Given the description of an element on the screen output the (x, y) to click on. 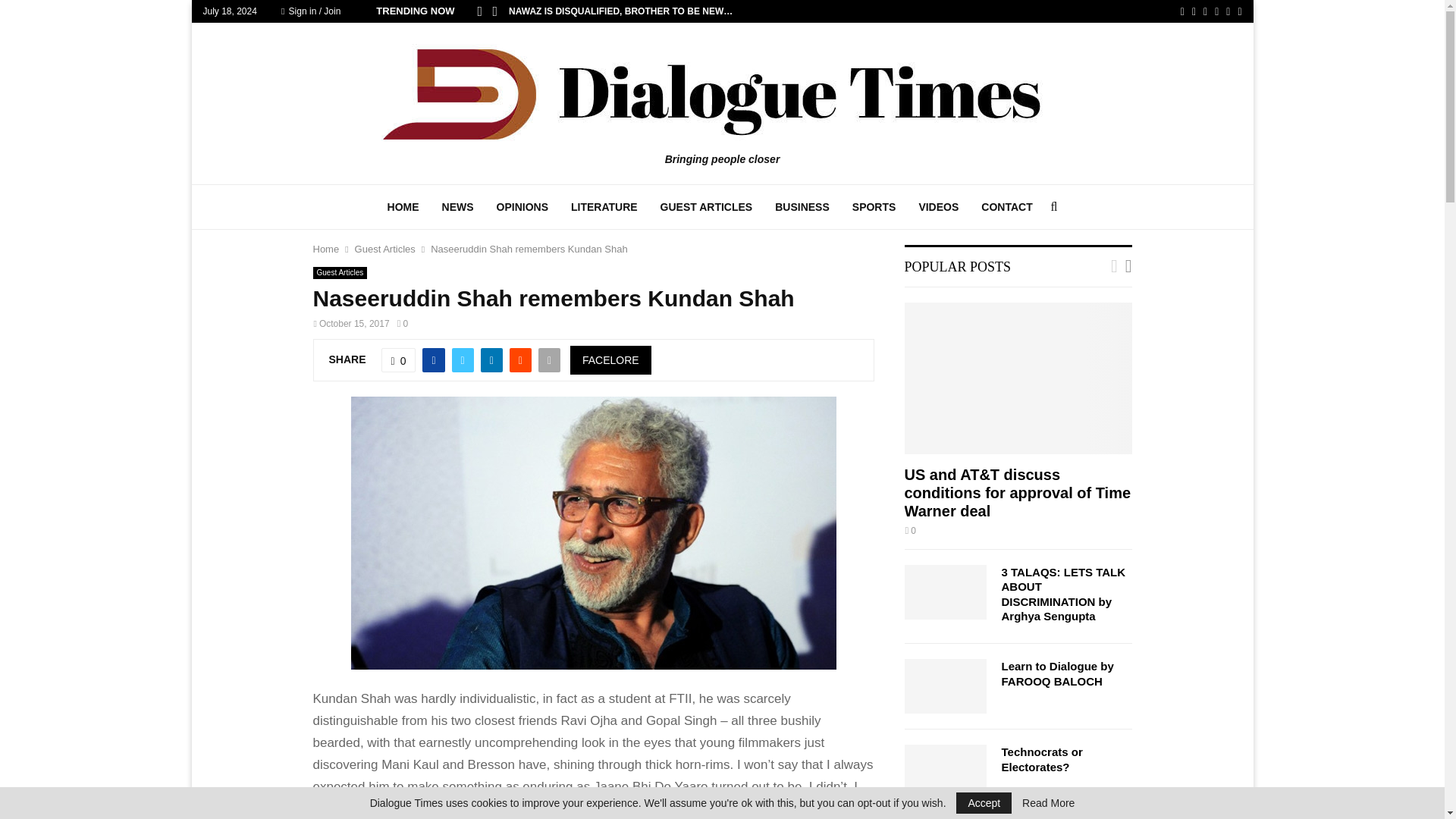
Sign up new account (722, 527)
Facebook (1182, 11)
Login to your account (722, 293)
Like (398, 360)
Twitter (1193, 11)
HOME (403, 207)
LITERATURE (603, 207)
OPINIONS (522, 207)
Rss (1227, 11)
Xing (1239, 11)
NEWS (458, 207)
Youtube (1216, 11)
Linkedin (1205, 11)
Youtube (1216, 11)
Rss (1227, 11)
